Given the description of an element on the screen output the (x, y) to click on. 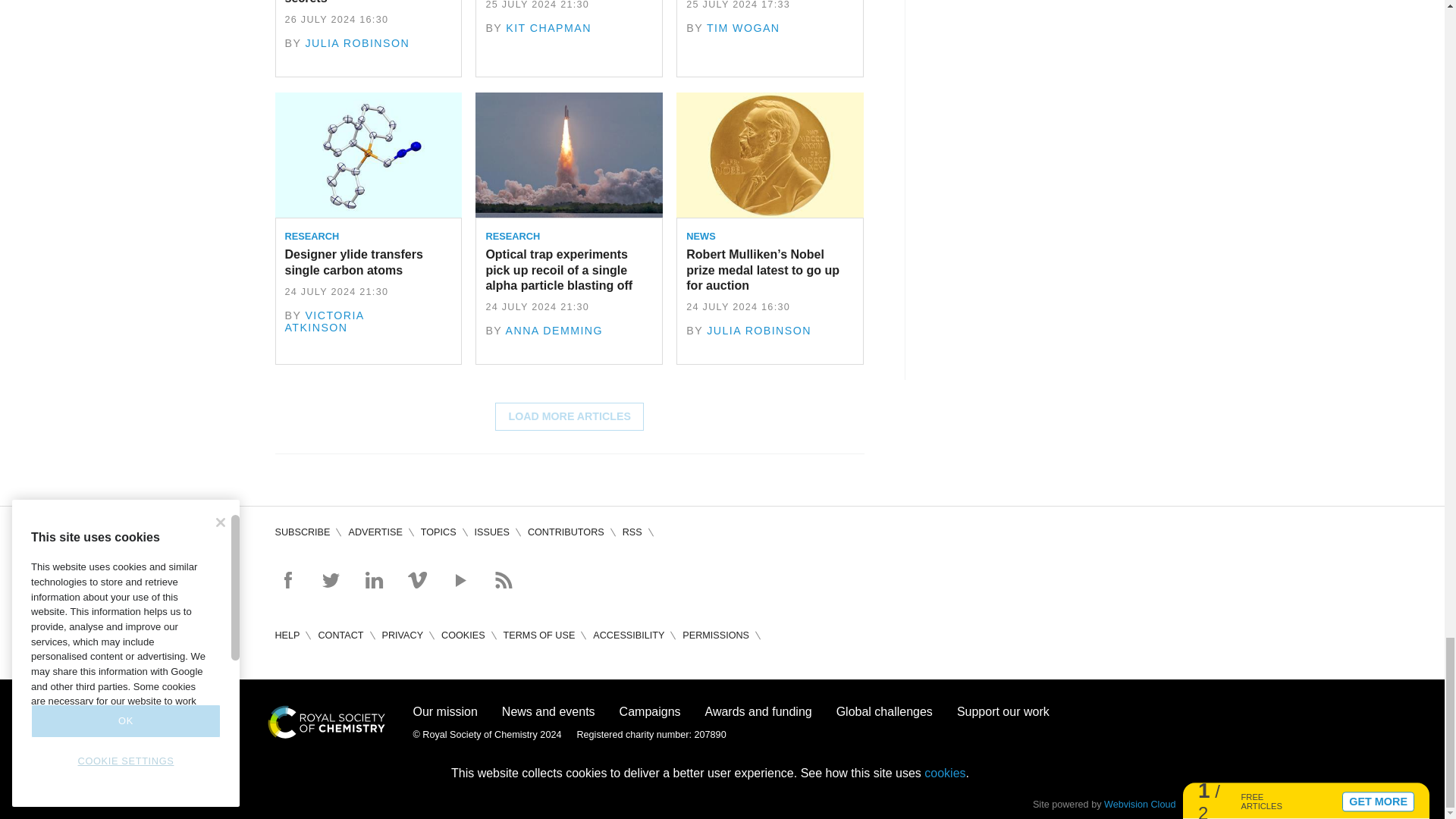
Follow on Twitter (330, 579)
Follow on Facebook (287, 579)
